Given the description of an element on the screen output the (x, y) to click on. 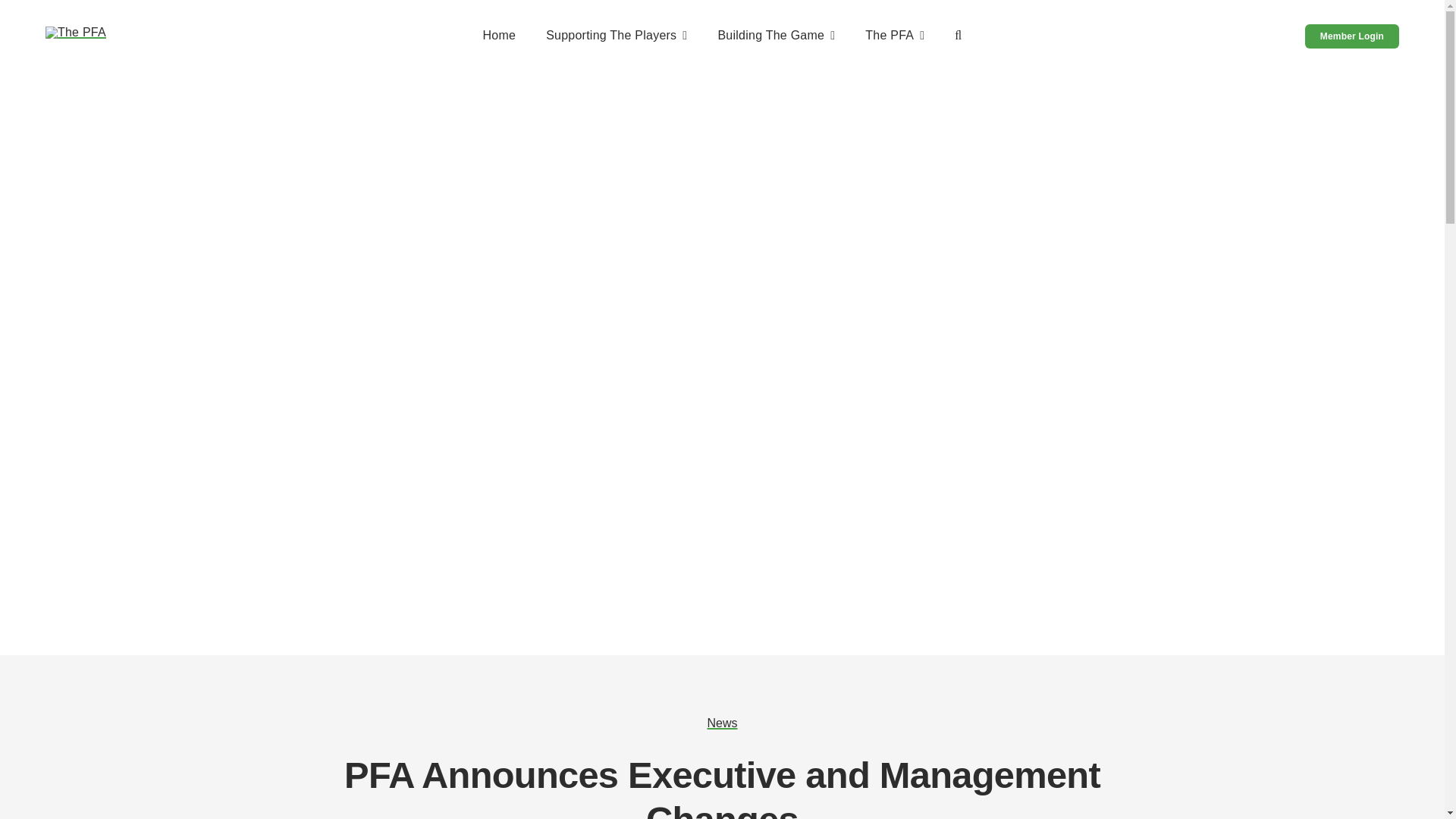
News (721, 722)
Supporting The Players (616, 36)
News (721, 722)
Home (498, 36)
Member Login (1351, 36)
Building The Game (775, 36)
The PFA (894, 36)
